Given the description of an element on the screen output the (x, y) to click on. 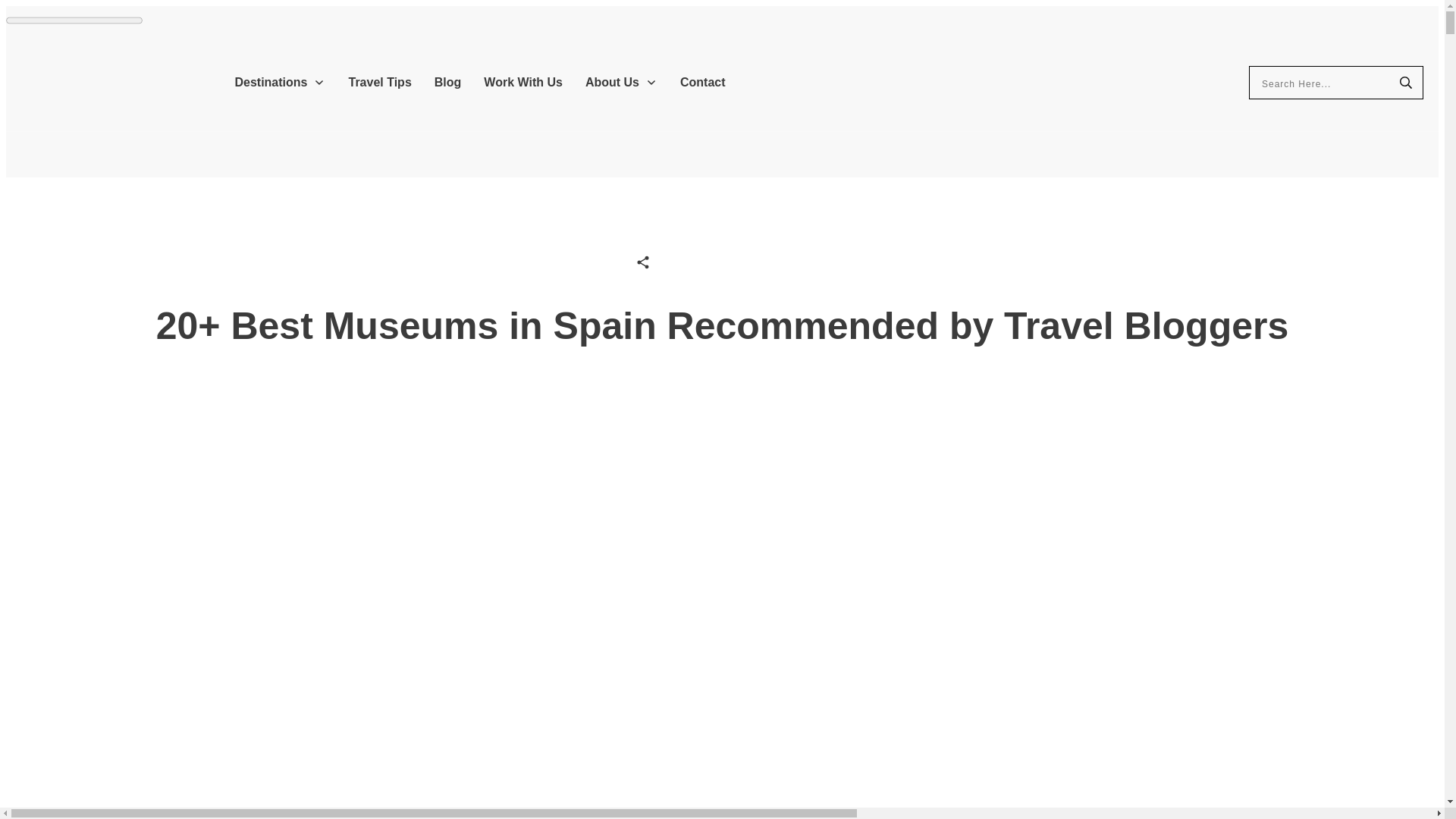
Work With Us (522, 82)
Blog (447, 82)
Destinations (279, 82)
About Us (621, 82)
Contact (702, 82)
Travel Tips (378, 82)
